Given the description of an element on the screen output the (x, y) to click on. 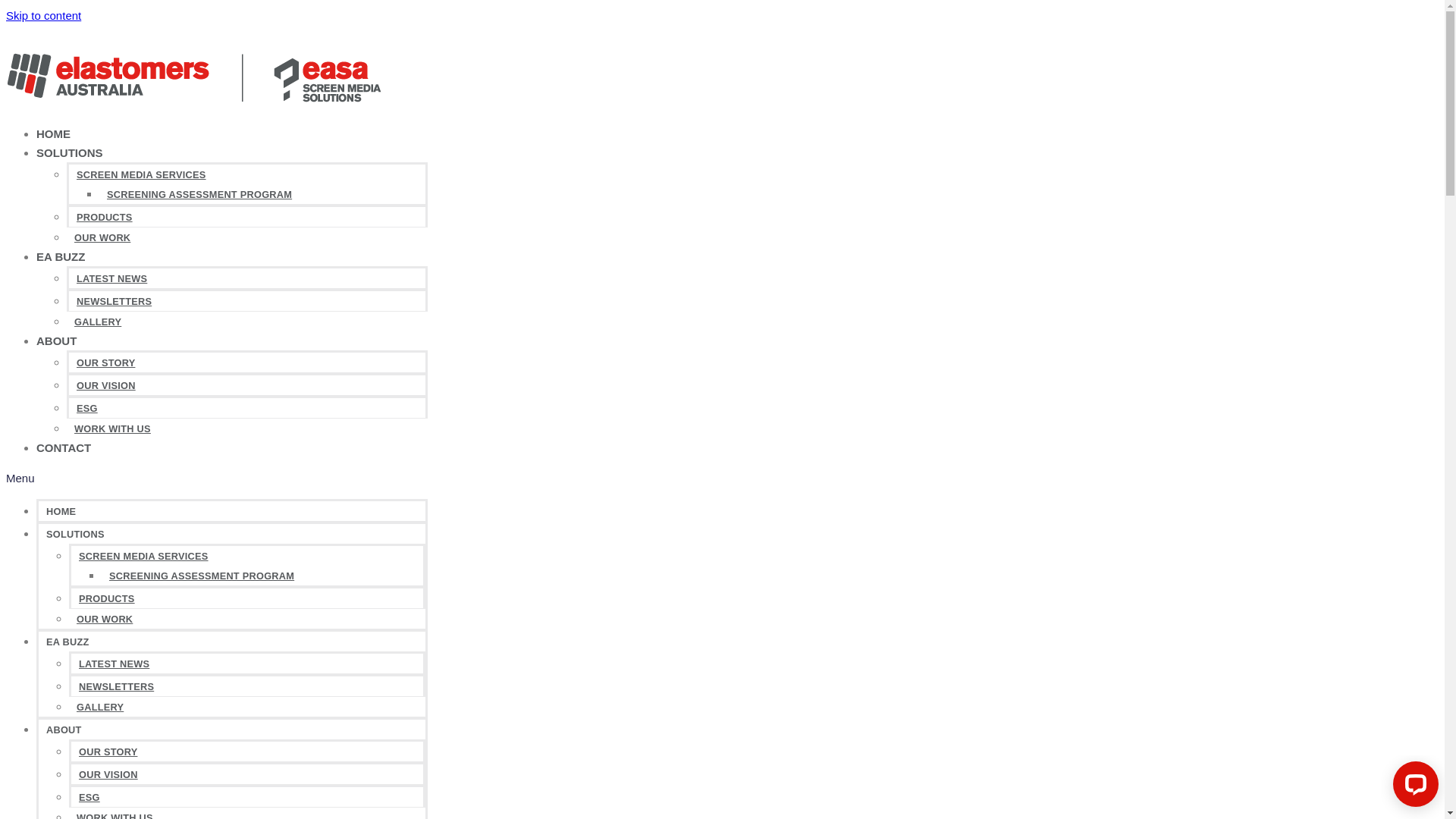
PRODUCTS Element type: text (106, 598)
LATEST NEWS Element type: text (111, 278)
HOME Element type: text (60, 511)
ABOUT Element type: text (56, 340)
OUR STORY Element type: text (105, 362)
NEWSLETTERS Element type: text (114, 301)
SOLUTIONS Element type: text (75, 533)
NEWSLETTERS Element type: text (116, 686)
OUR VISION Element type: text (108, 774)
EA BUZZ Element type: text (67, 641)
WORK WITH US Element type: text (112, 428)
OUR WORK Element type: text (104, 618)
Skip to content Element type: text (43, 15)
OUR VISION Element type: text (106, 385)
SCREEN MEDIA SERVICES Element type: text (141, 174)
ESG Element type: text (87, 408)
ABOUT Element type: text (63, 729)
SCREENING ASSESSMENT PROGRAM Element type: text (201, 575)
SOLUTIONS Element type: text (69, 152)
HOME Element type: text (53, 133)
OUR WORK Element type: text (102, 237)
SCREENING ASSESSMENT PROGRAM Element type: text (199, 194)
CONTACT Element type: text (63, 447)
PRODUCTS Element type: text (104, 216)
SCREEN MEDIA SERVICES Element type: text (143, 555)
GALLERY Element type: text (97, 321)
EA BUZZ Element type: text (60, 256)
ESG Element type: text (89, 797)
OUR STORY Element type: text (107, 751)
LATEST NEWS Element type: text (113, 663)
GALLERY Element type: text (100, 706)
